Given the description of an element on the screen output the (x, y) to click on. 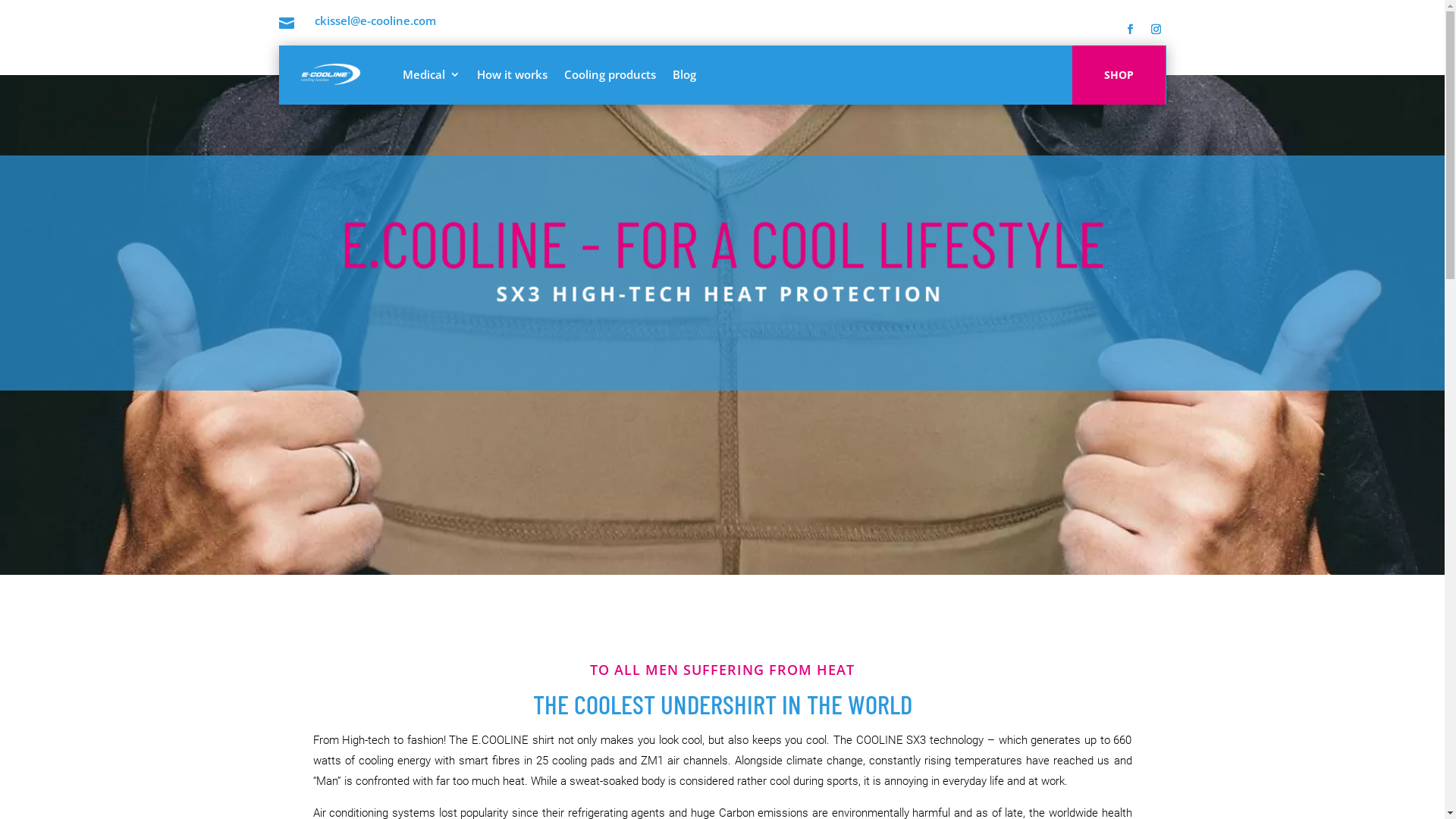
How it works Element type: text (511, 74)
website home(9) Element type: hover (721, 262)
SHOP Element type: text (1118, 74)
Blog Element type: text (683, 74)
Follow on Instagram Element type: hover (1155, 29)
Cooling products Element type: text (609, 74)
Medical Element type: text (430, 74)
ckissel@e-cooline.com Element type: text (374, 20)
Follow on Facebook Element type: hover (1129, 29)
